Given the description of an element on the screen output the (x, y) to click on. 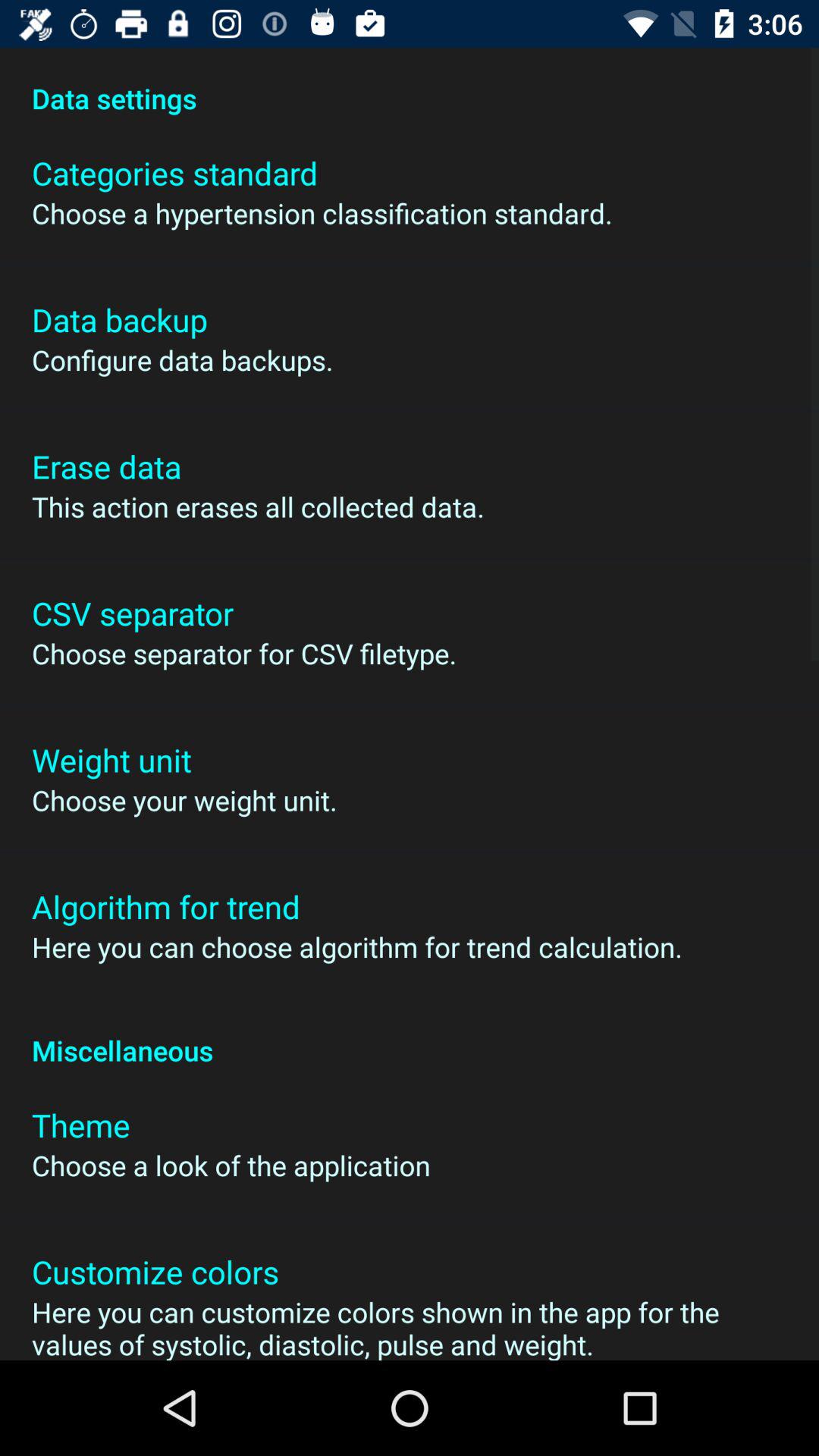
choose the miscellaneous app (409, 1034)
